Given the description of an element on the screen output the (x, y) to click on. 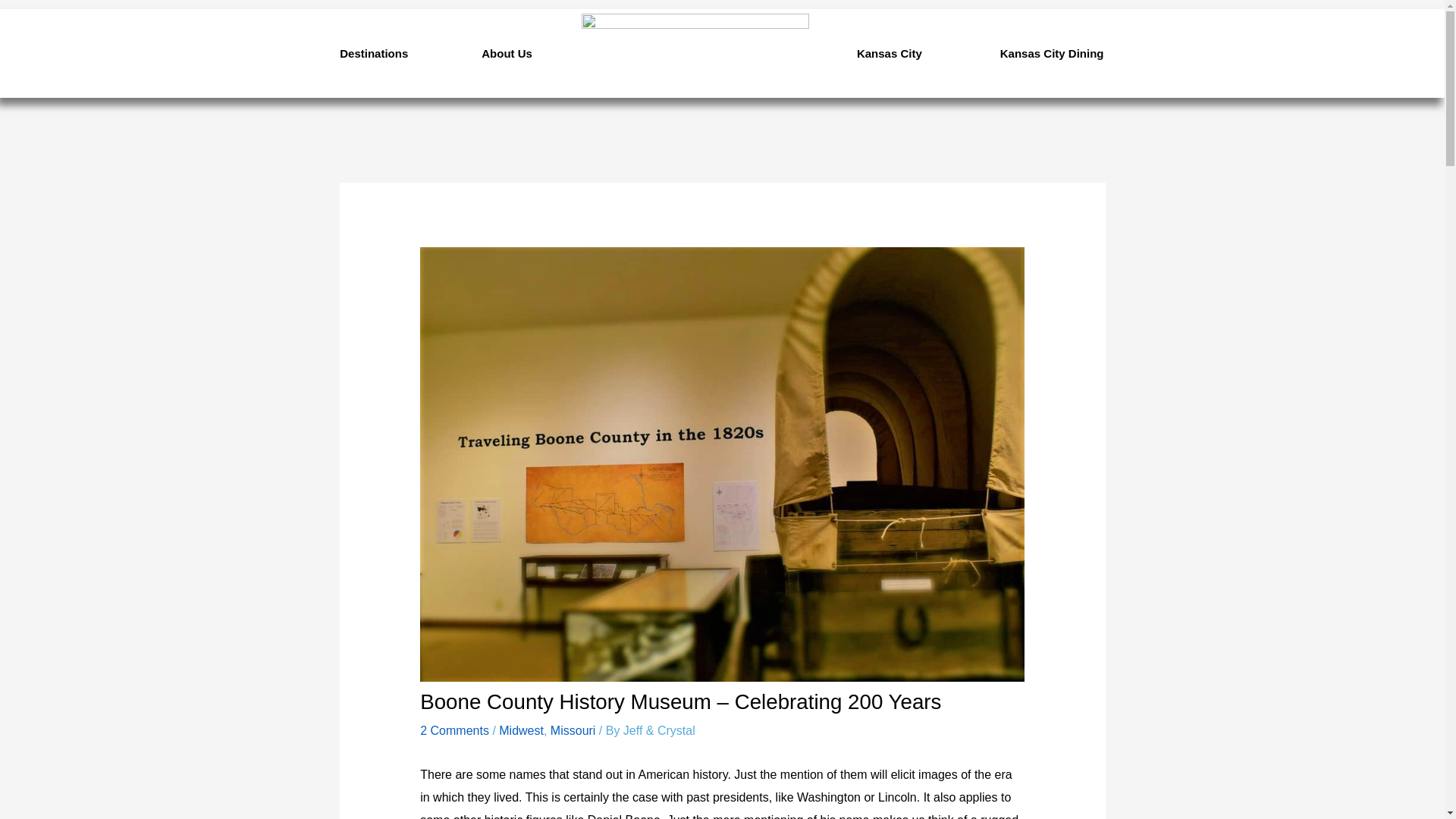
Destinations (373, 53)
